Given the description of an element on the screen output the (x, y) to click on. 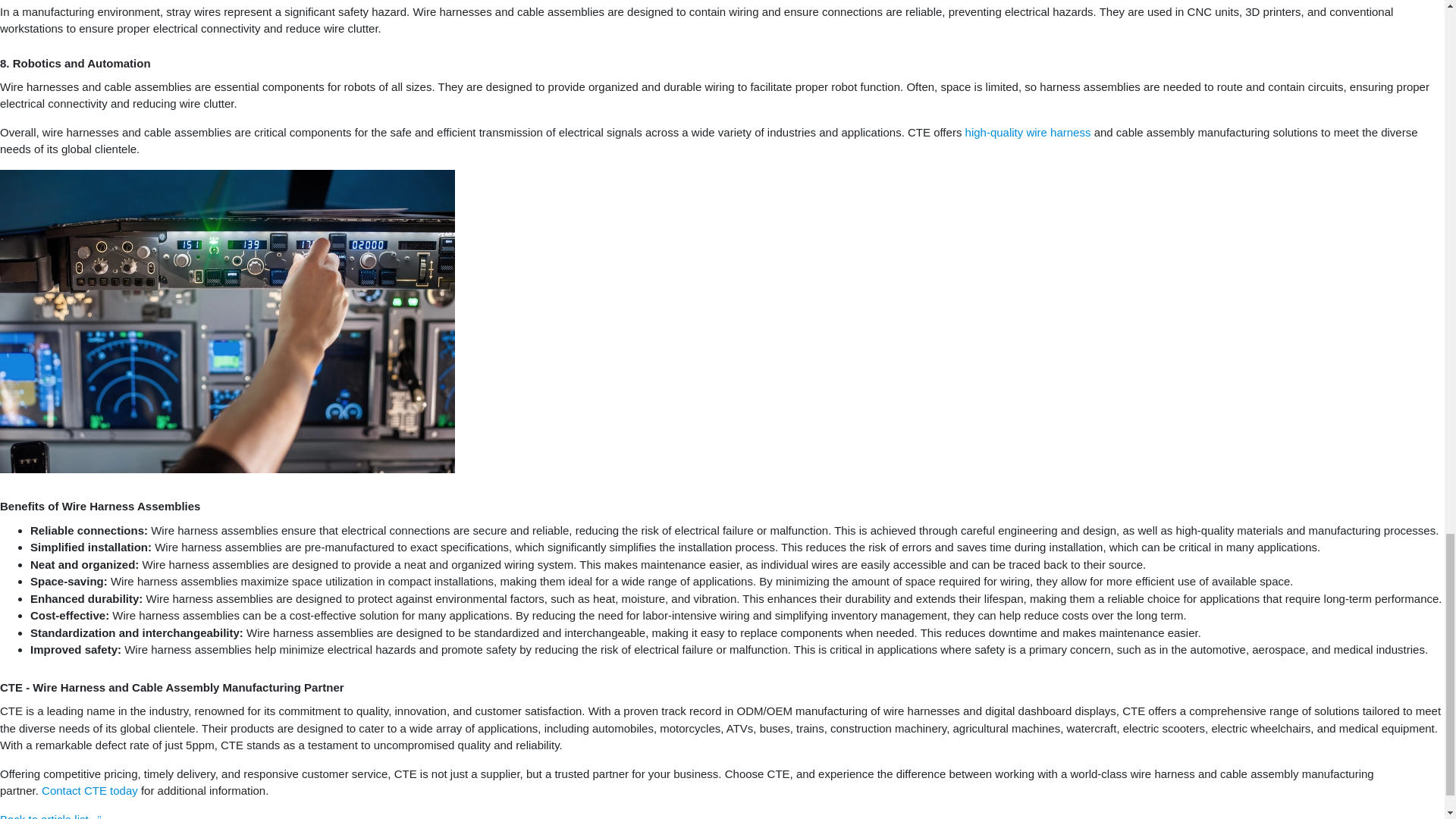
high-quality wire harness (1027, 132)
Back to article list (50, 816)
Contact CTE today (90, 789)
